Given the description of an element on the screen output the (x, y) to click on. 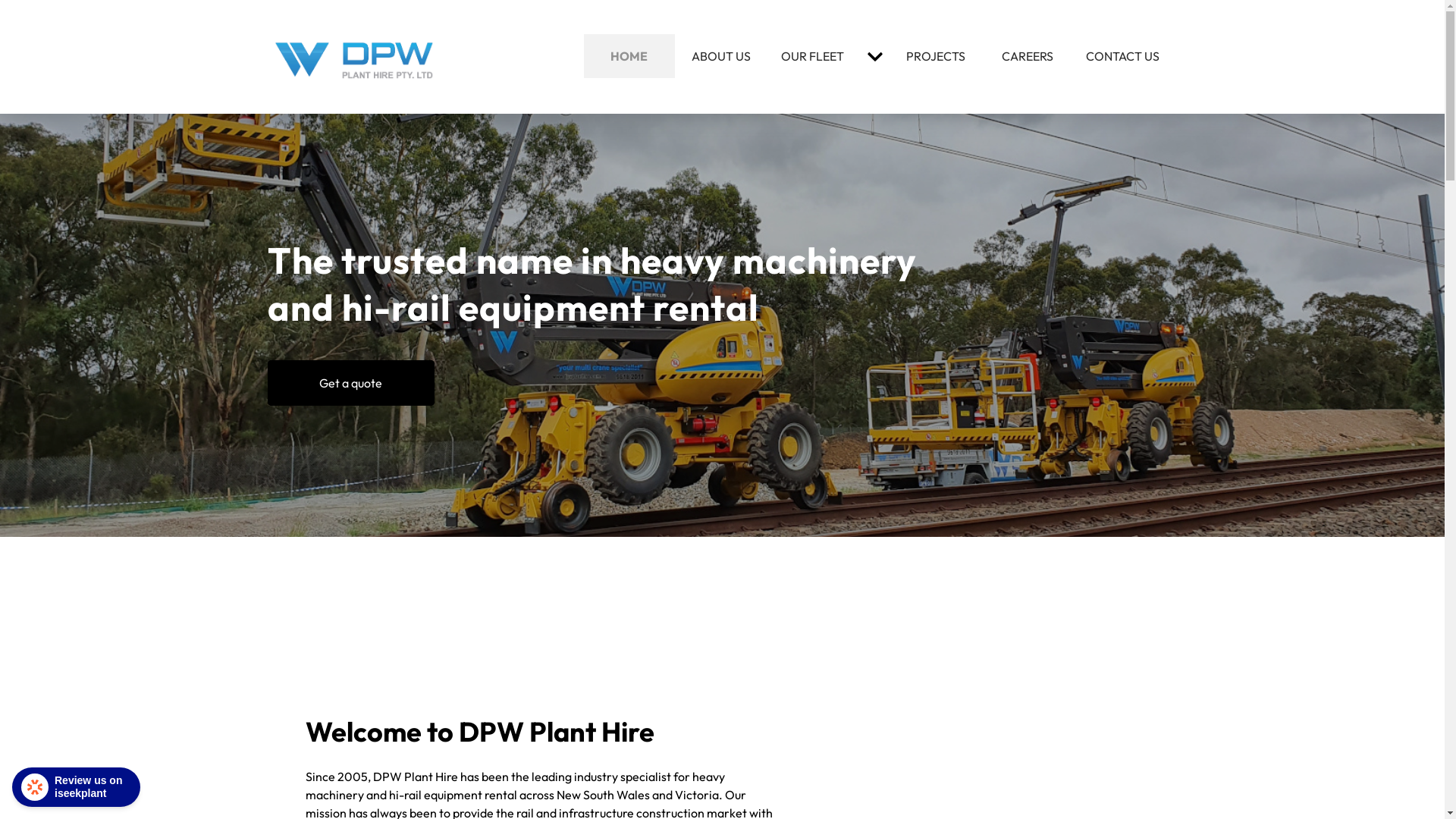
HOME Element type: text (628, 56)
Review us on
iseekplant Element type: text (76, 786)
ABOUT US Element type: text (719, 56)
CAREERS Element type: text (1026, 56)
Get a quote Element type: text (349, 382)
OUR FLEET Element type: text (812, 56)
PROJECTS Element type: text (935, 56)
CONTACT US Element type: text (1121, 56)
